Given the description of an element on the screen output the (x, y) to click on. 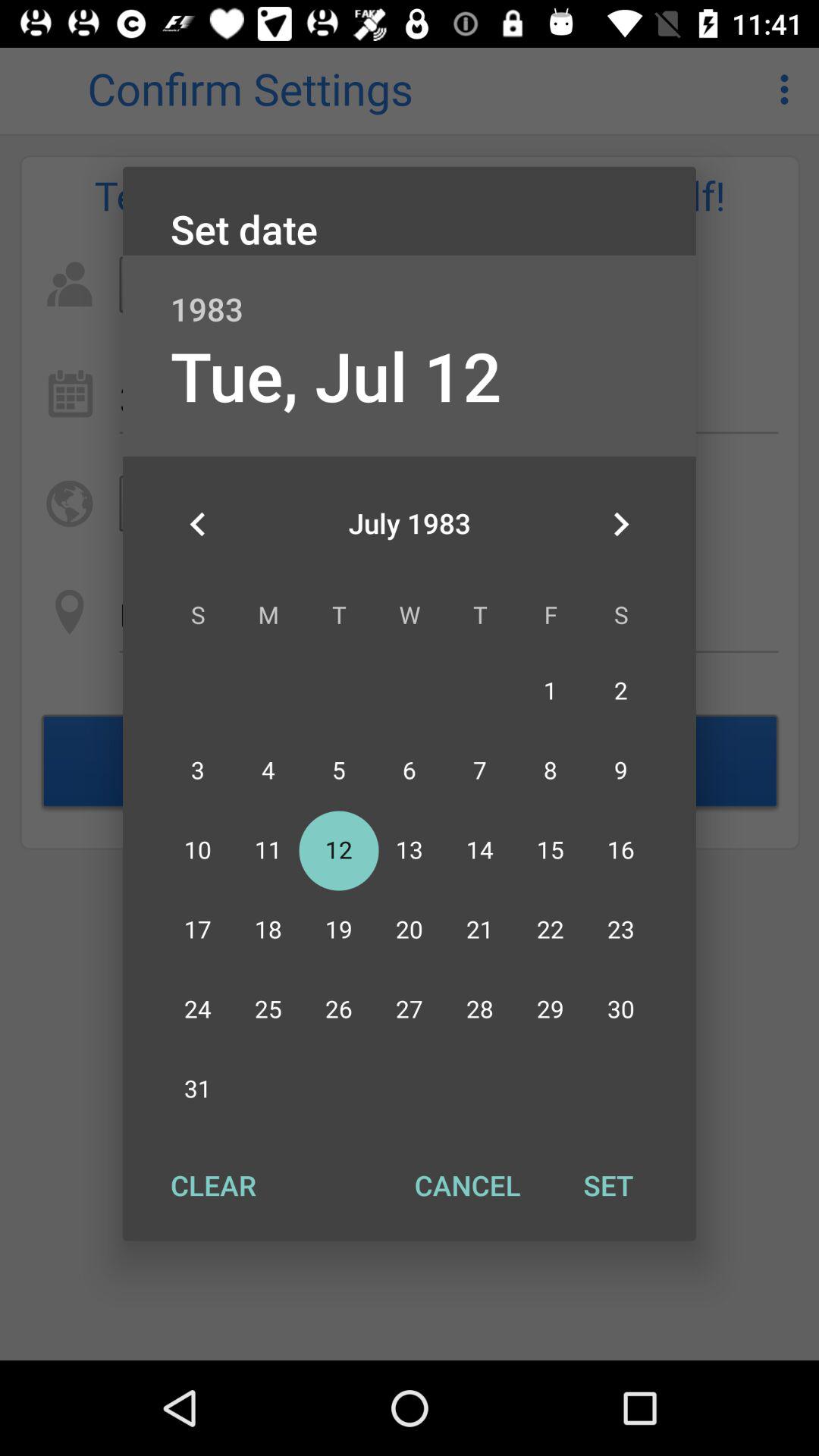
open the item below tue, jul 12 (197, 524)
